Given the description of an element on the screen output the (x, y) to click on. 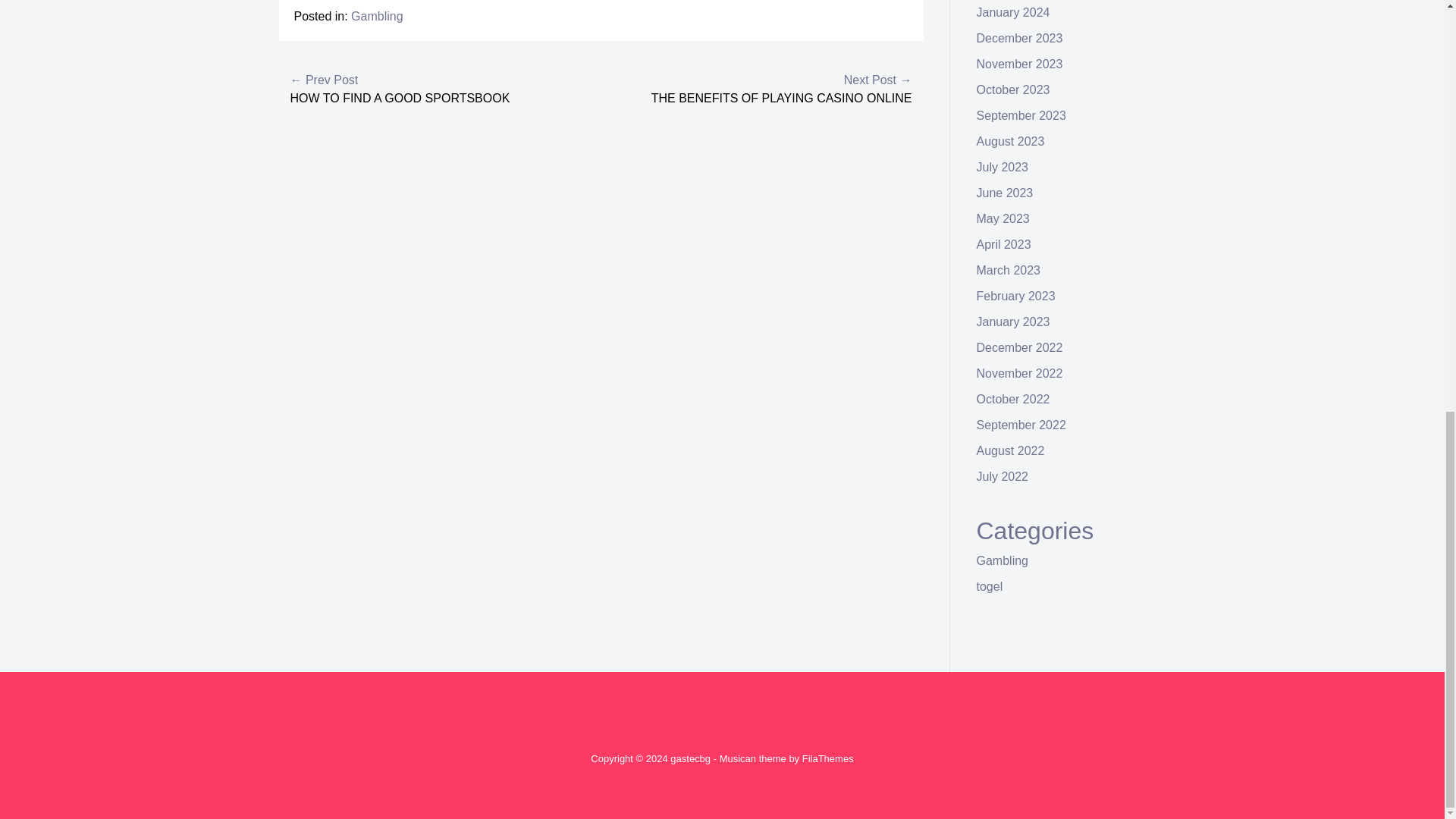
December 2023 (1019, 38)
December 2022 (1019, 347)
October 2023 (1012, 89)
March 2023 (1008, 269)
November 2023 (1019, 63)
February 2023 (1015, 295)
gastecbg (689, 758)
Gambling (376, 15)
May 2023 (1002, 218)
July 2023 (1002, 166)
April 2023 (1003, 244)
January 2023 (1012, 321)
October 2022 (1012, 399)
September 2023 (1020, 115)
June 2023 (1004, 192)
